Given the description of an element on the screen output the (x, y) to click on. 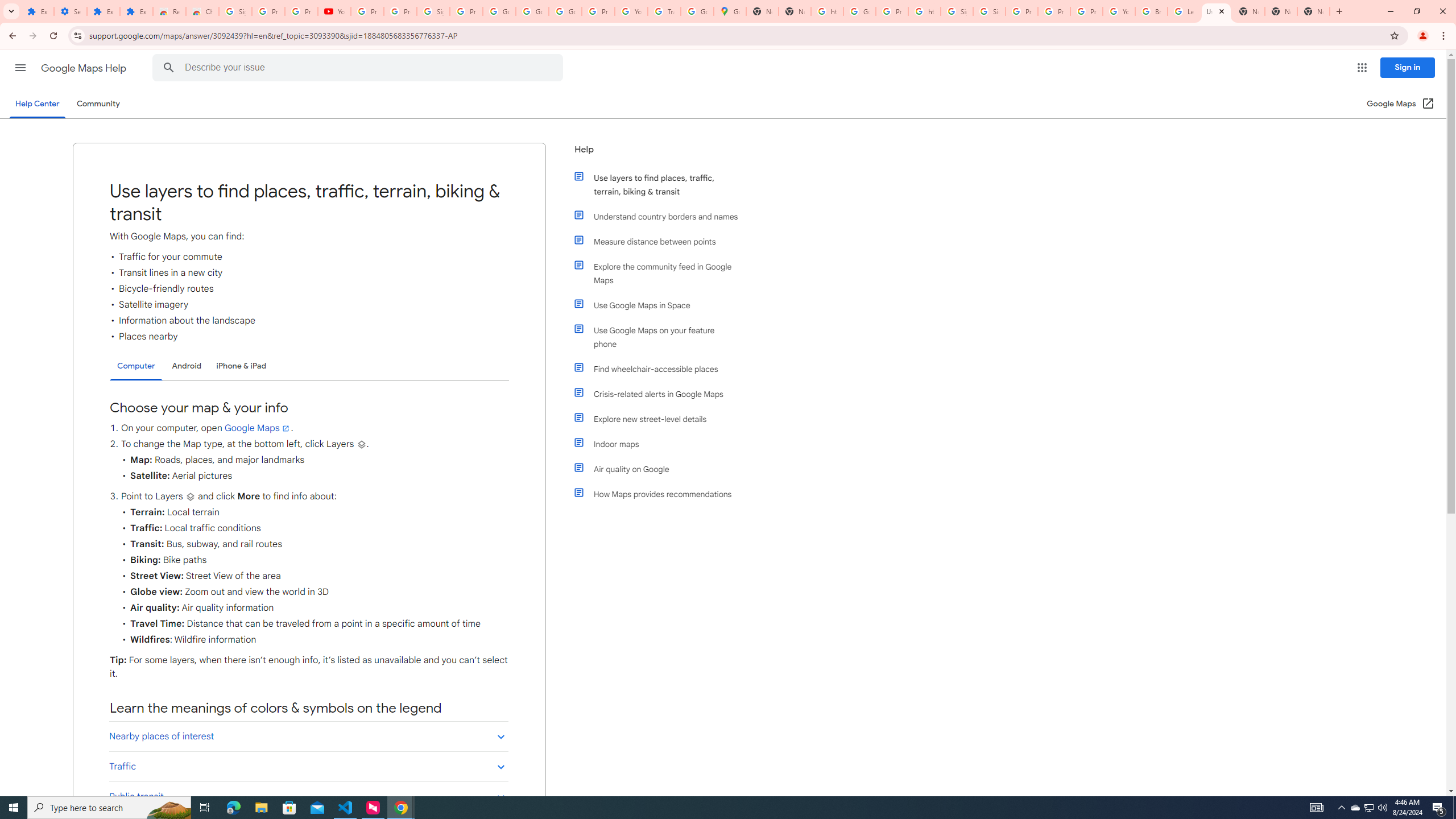
Extensions (37, 11)
Measure distance between points (661, 241)
Air quality on Google (661, 469)
Sign in - Google Accounts (989, 11)
Search Help Center (168, 67)
Browse Chrome as a guest - Computer - Google Chrome Help (1150, 11)
Google Maps (257, 428)
Nearby places of interest (308, 736)
